Given the description of an element on the screen output the (x, y) to click on. 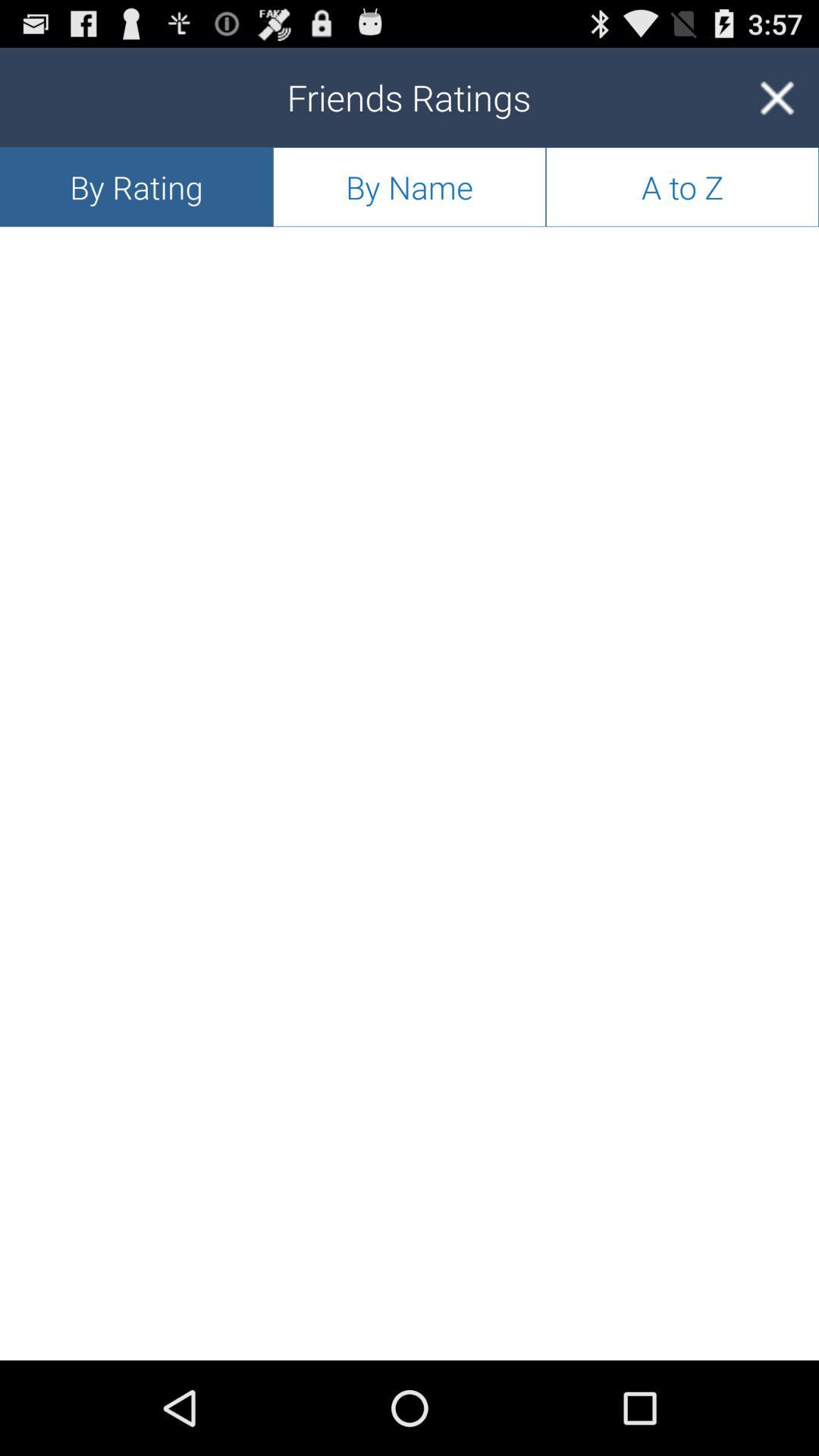
swipe to a to z icon (682, 186)
